Given the description of an element on the screen output the (x, y) to click on. 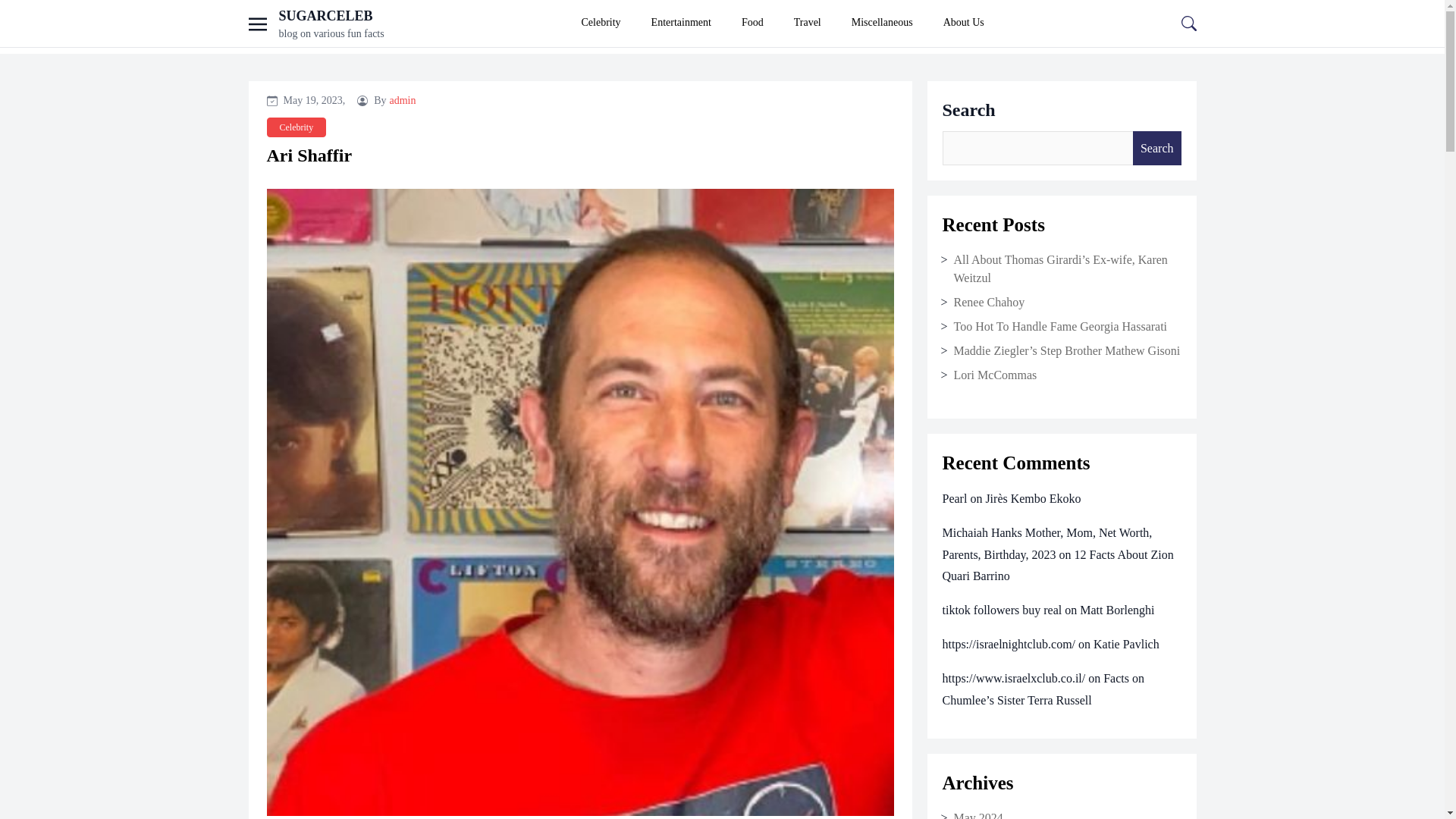
Celebrity (296, 127)
admin (403, 100)
Celebrity (600, 22)
About Us (963, 22)
SUGARCELEB (325, 15)
Miscellaneous (881, 22)
Food (752, 22)
Travel (806, 22)
Entertainment (681, 22)
